Given the description of an element on the screen output the (x, y) to click on. 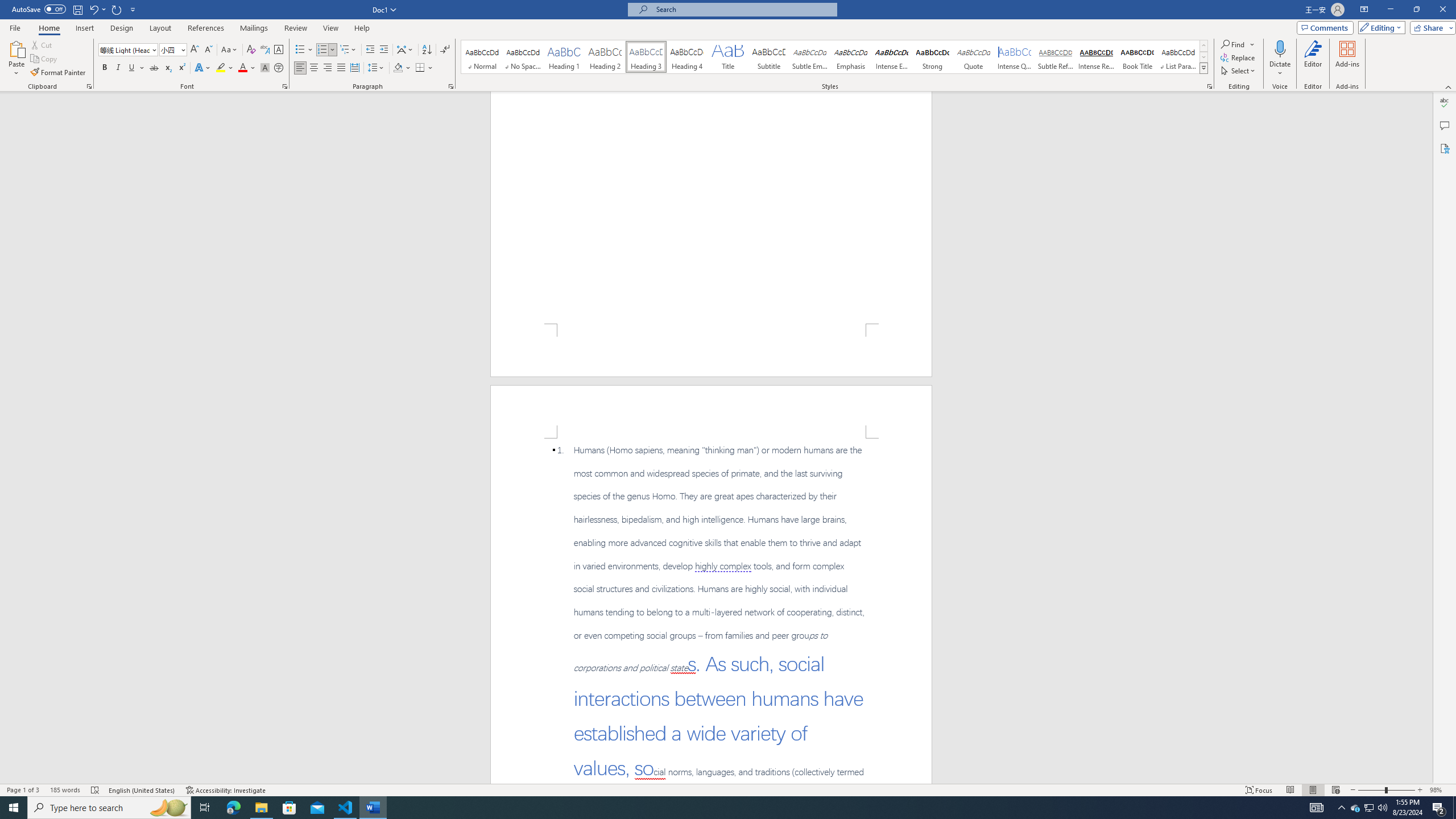
Page Number Page 1 of 3 (22, 790)
Font Color Blue-Gray, Text 2 (241, 67)
